Given the description of an element on the screen output the (x, y) to click on. 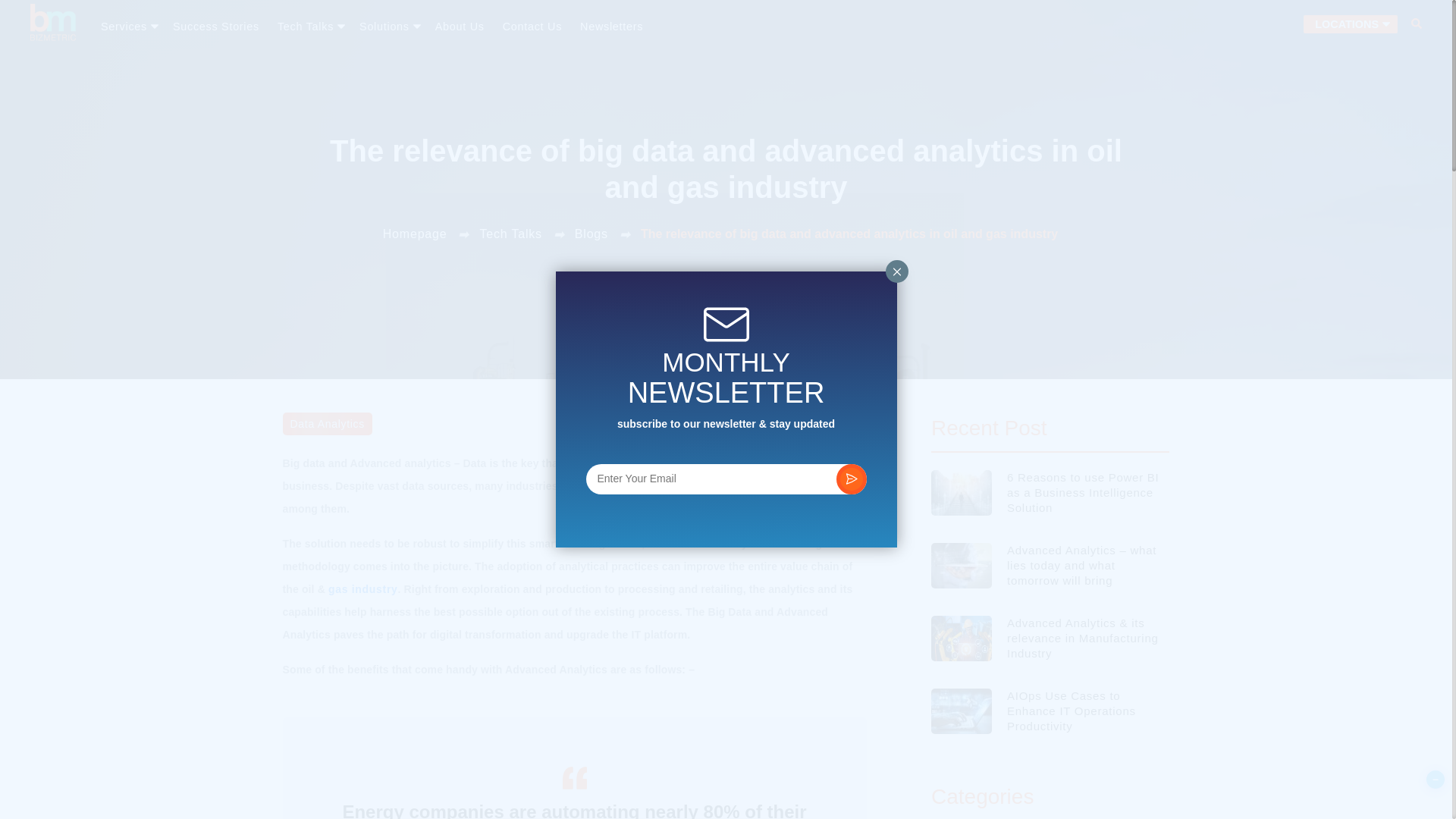
Homepage (414, 233)
Solutions (388, 26)
Success Stories (215, 26)
Services (131, 26)
Tech Talks (308, 26)
